Given the description of an element on the screen output the (x, y) to click on. 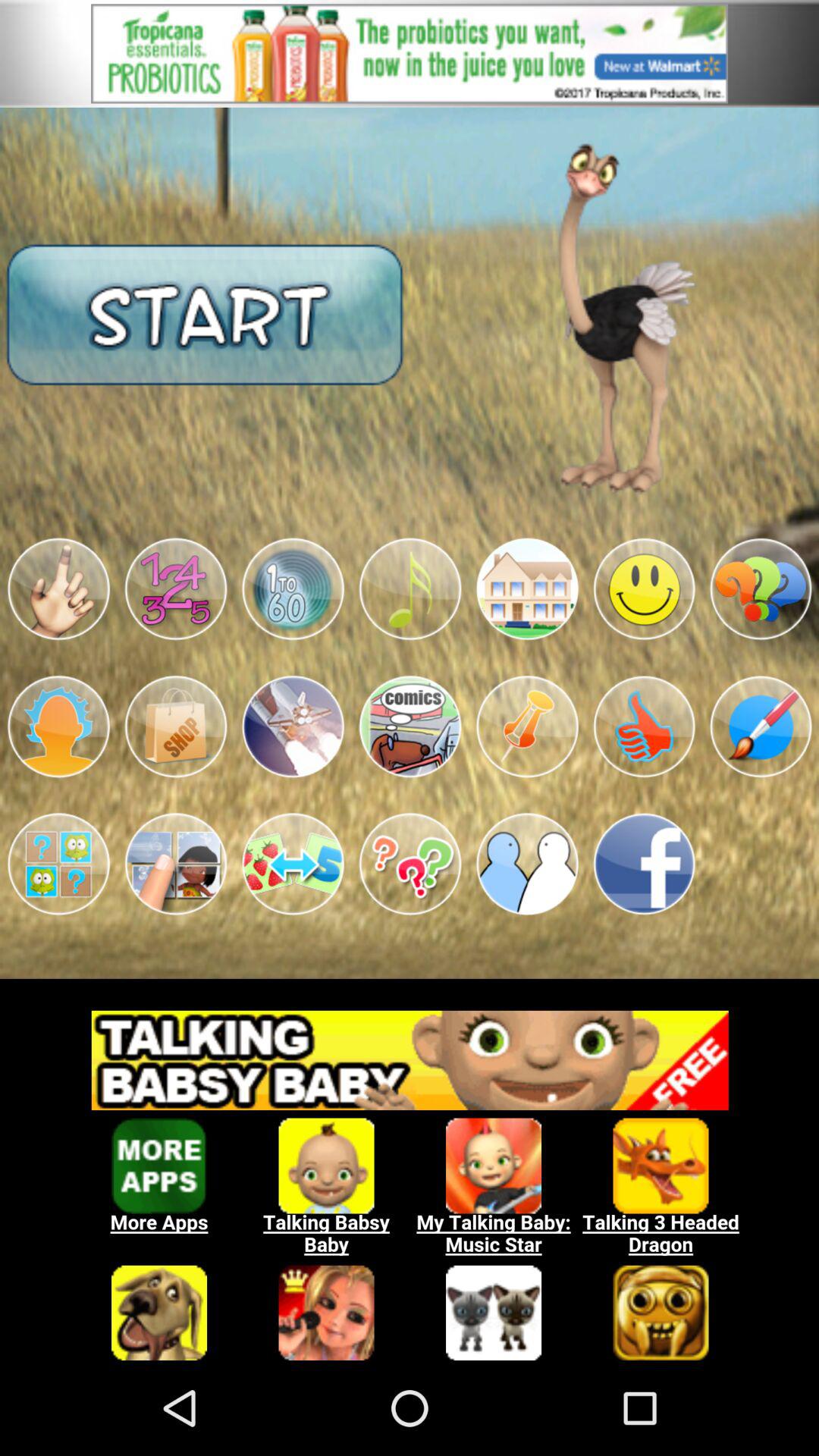
choose icon with numbers 12345 (175, 589)
